Given the description of an element on the screen output the (x, y) to click on. 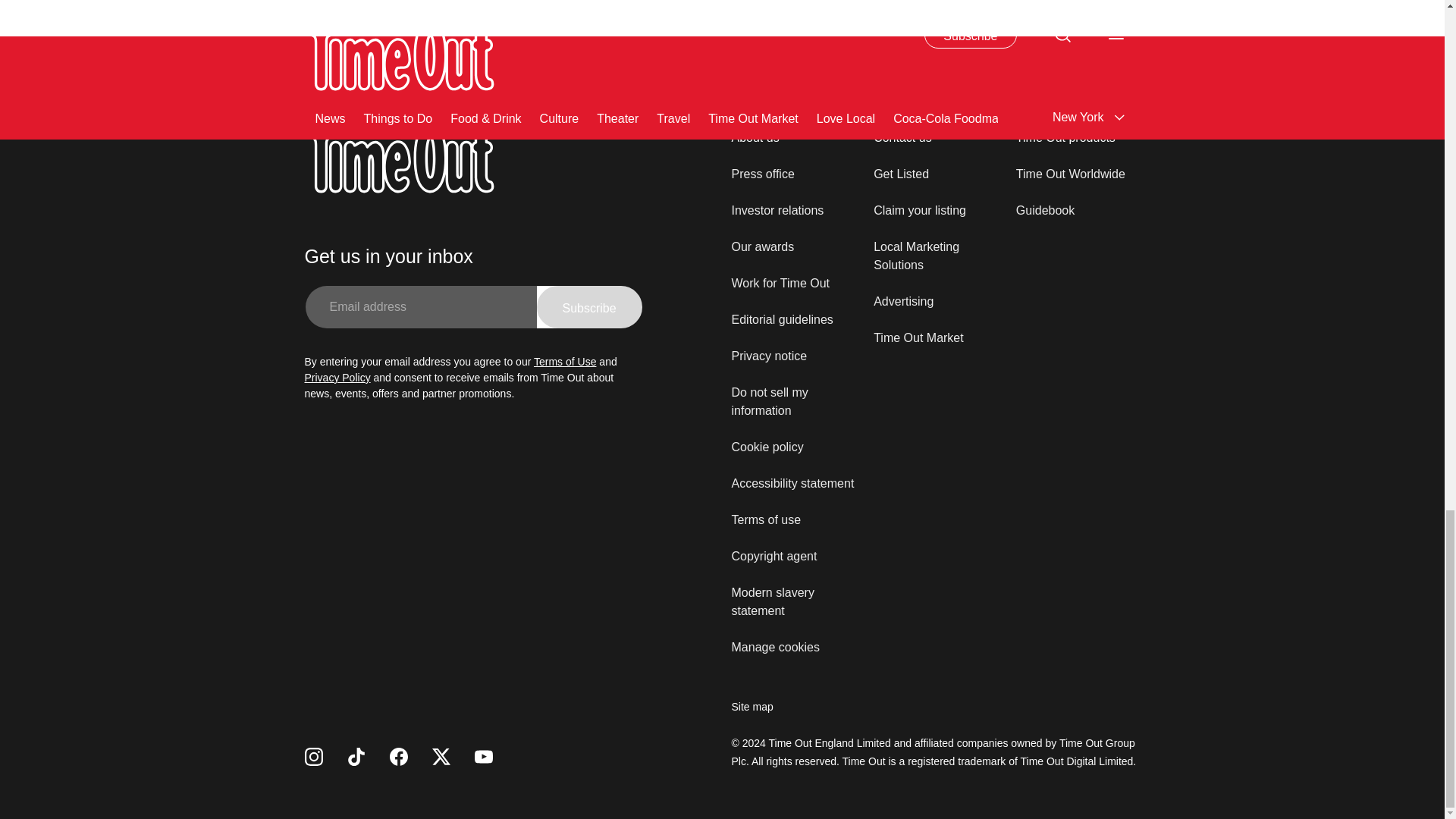
Subscribe (589, 306)
